Given the description of an element on the screen output the (x, y) to click on. 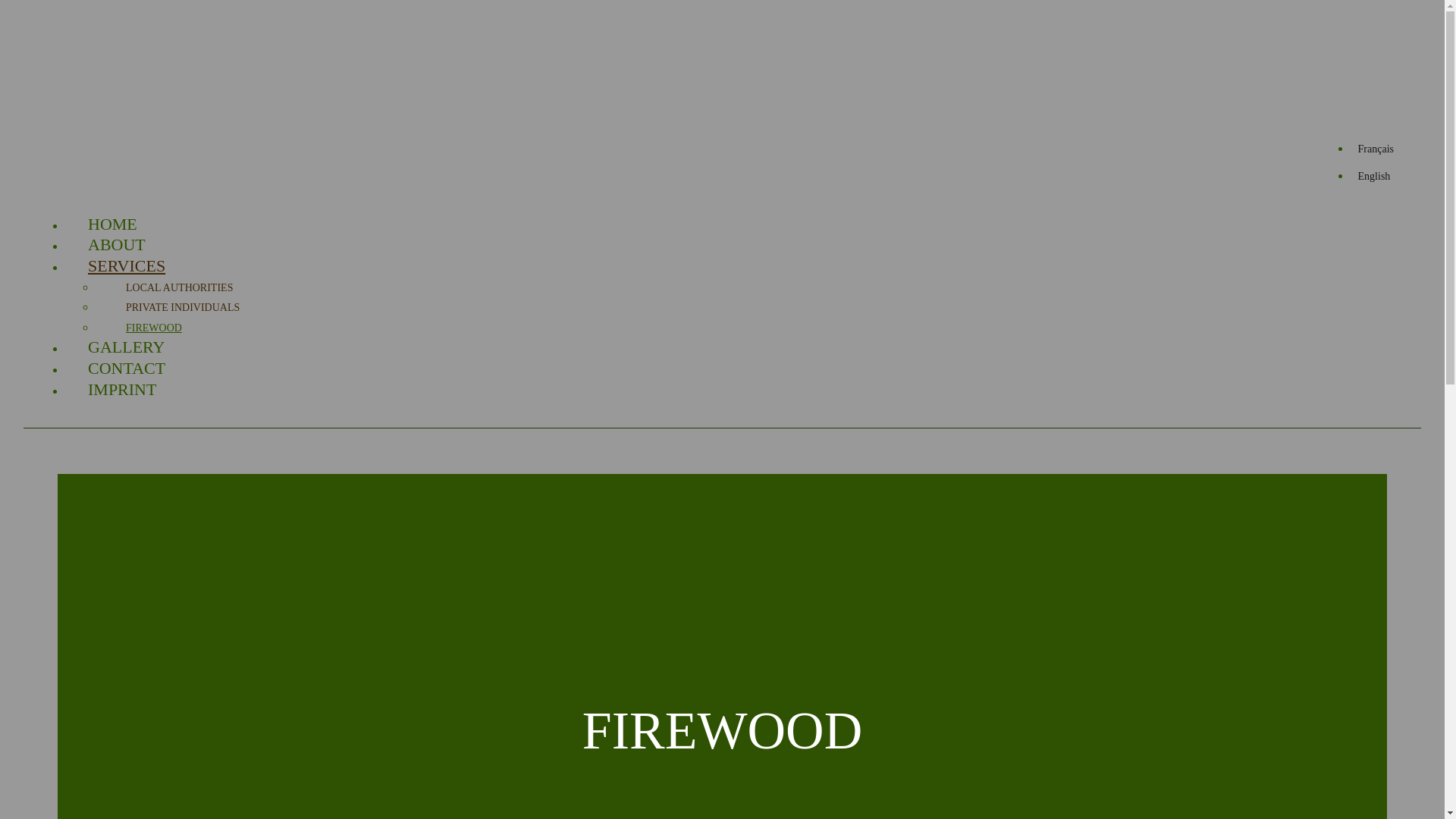
LOCAL AUTHORITIES Element type: text (179, 287)
HOME Element type: text (112, 224)
IMPRINT Element type: text (121, 389)
ABOUT Element type: text (116, 244)
GALLERY Element type: text (125, 347)
PRIVATE INDIVIDUALS Element type: text (182, 307)
English Element type: text (1374, 176)
CONTACT Element type: text (126, 368)
FIREWOOD Element type: text (153, 328)
SERVICES Element type: text (126, 266)
